Given the description of an element on the screen output the (x, y) to click on. 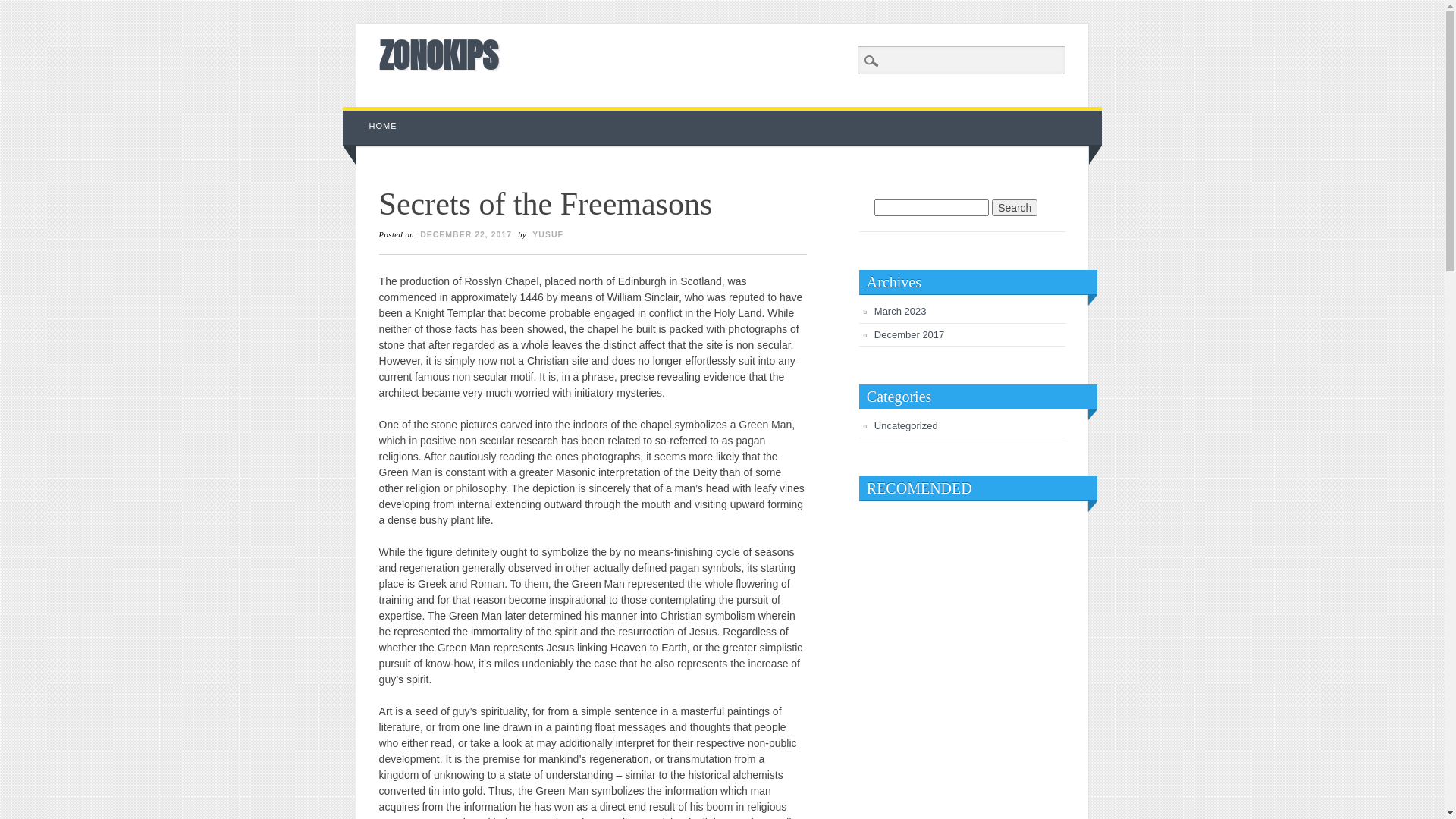
ZONOKIPS Element type: text (438, 55)
March 2023 Element type: text (900, 310)
Search Element type: text (1014, 207)
DECEMBER 22, 2017 Element type: text (465, 233)
December 2017 Element type: text (909, 334)
YUSUF Element type: text (547, 233)
HOME Element type: text (383, 125)
Search Element type: text (22, 8)
Uncategorized Element type: text (906, 425)
Skip to content Element type: text (377, 114)
